Given the description of an element on the screen output the (x, y) to click on. 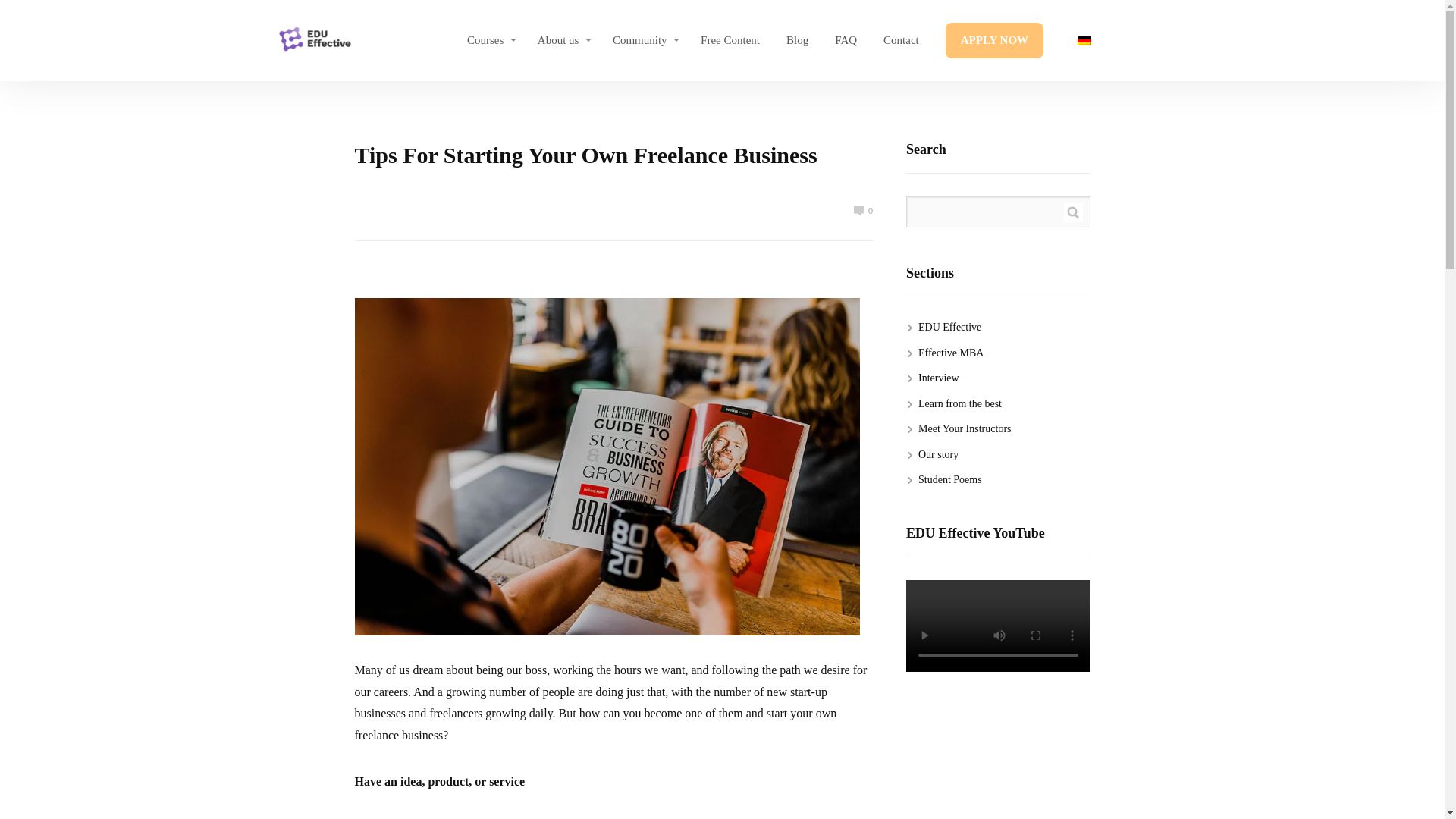
Community (645, 40)
Courses (491, 40)
About us (564, 40)
Free Content (730, 40)
APPLY NOW (993, 40)
Contact (900, 40)
Effective MBA (951, 352)
0 (863, 210)
EDU Effective (949, 326)
German (1095, 41)
EDU Effective (313, 40)
Search (1071, 212)
German (1095, 41)
Search (1071, 212)
